Given the description of an element on the screen output the (x, y) to click on. 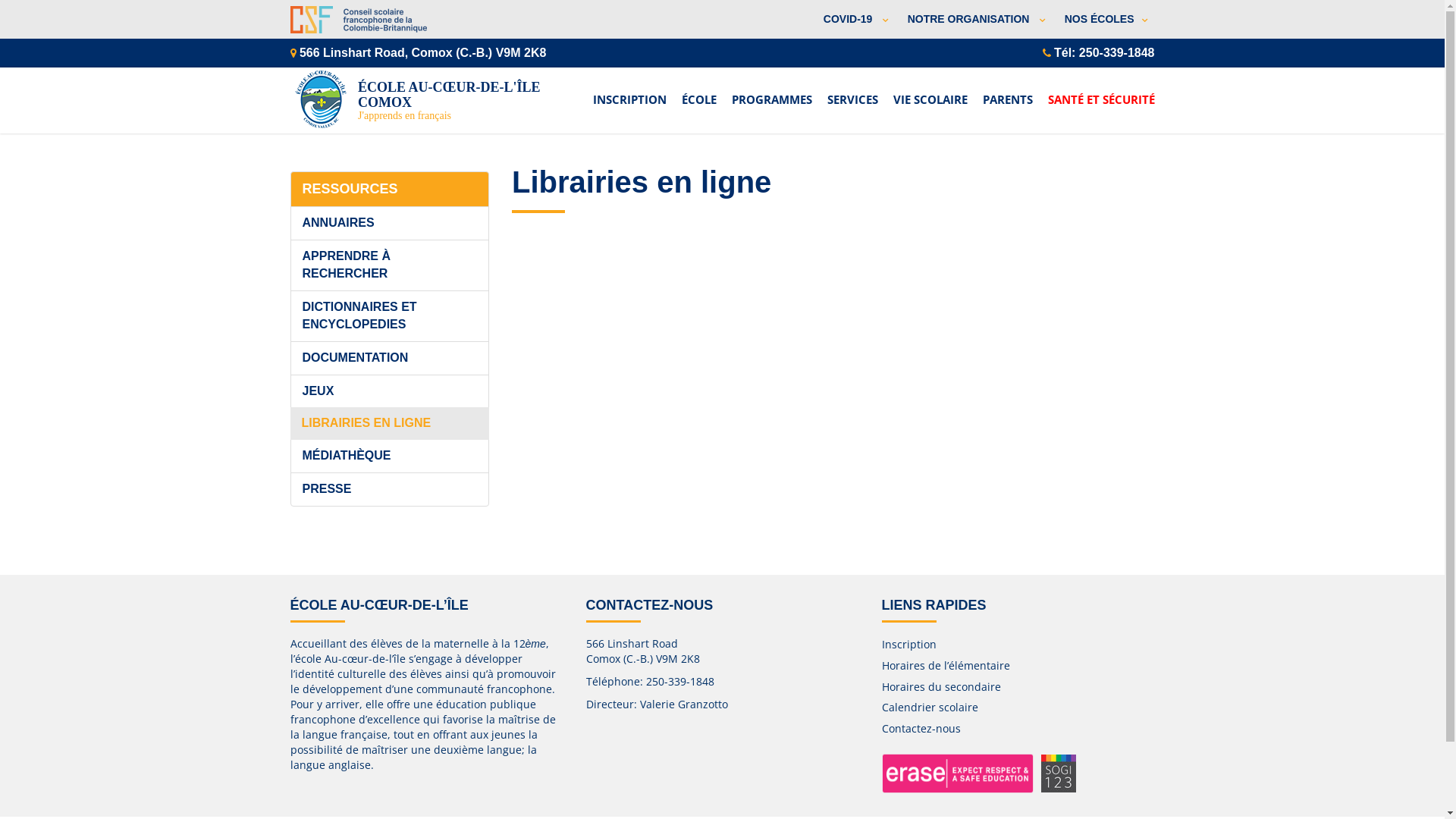
ANNUAIRES Element type: text (389, 223)
PRESSE Element type: text (389, 489)
Contactez-nous Element type: text (920, 728)
NOTRE ORGANISATION  Element type: text (973, 19)
SERVICES Element type: text (851, 90)
RESSOURCES Element type: text (389, 189)
DOCUMENTATION Element type: text (389, 358)
Valerie Granzotto Element type: text (684, 703)
COVID-19  Element type: text (853, 19)
PROGRAMMES Element type: text (771, 90)
PARENTS Element type: text (1007, 90)
Horaires du secondaire Element type: text (940, 686)
JEUX Element type: text (389, 391)
LIBRAIRIES EN LIGNE Element type: text (389, 423)
INSCRIPTION Element type: text (629, 90)
DICTIONNAIRES ET ENCYCLOPEDIES Element type: text (389, 316)
VIE SCOLAIRE Element type: text (930, 90)
Inscription Element type: text (908, 644)
Calendrier scolaire Element type: text (929, 706)
